Given the description of an element on the screen output the (x, y) to click on. 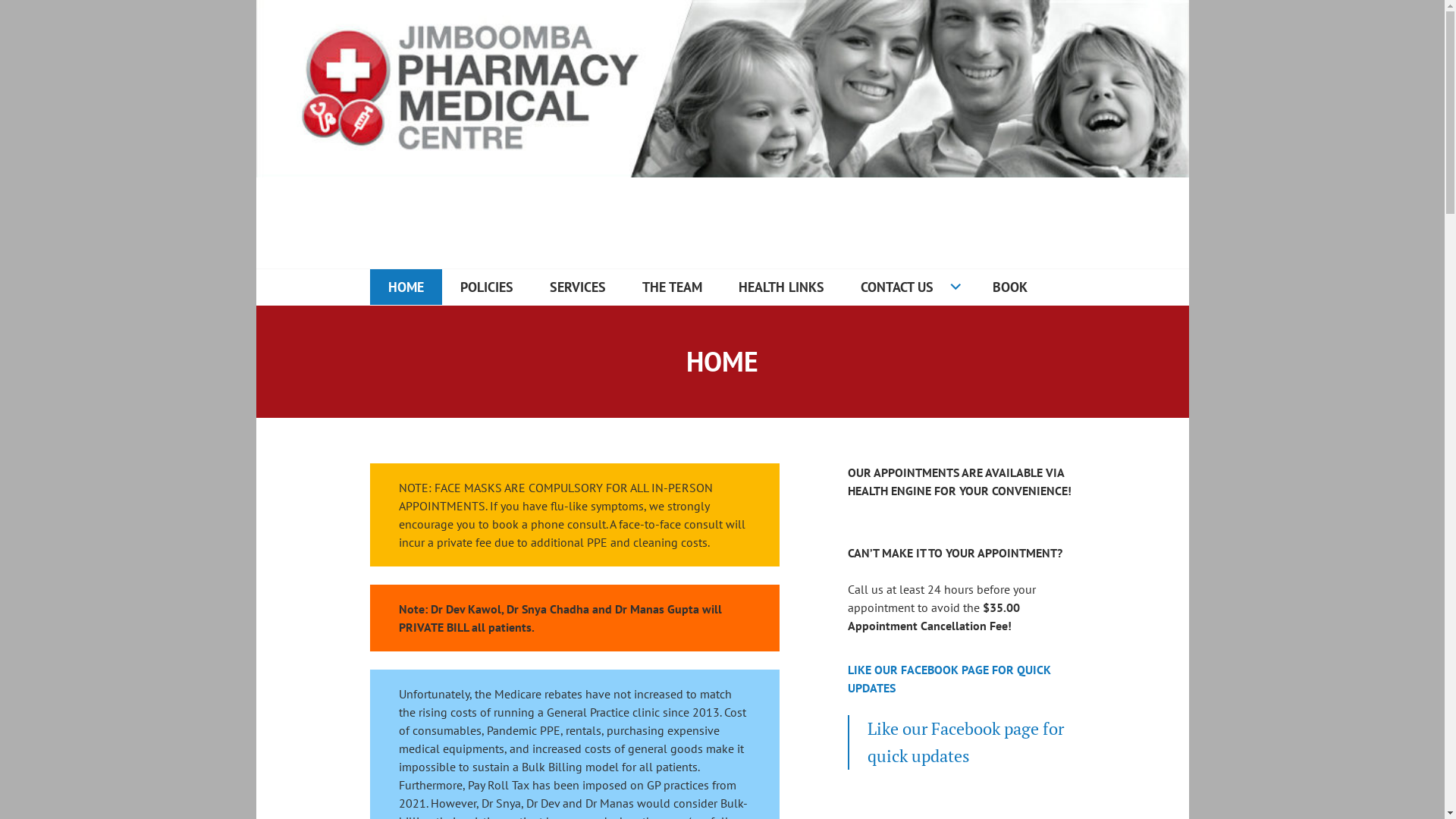
BOOK Element type: text (1008, 287)
Like our Facebook page for quick updates Element type: text (965, 741)
THE TEAM Element type: text (671, 287)
POLICIES Element type: text (485, 287)
JIMBOOMBA PHARMACY MEDICAL CENTRE Element type: text (618, 271)
HOME Element type: text (406, 287)
LIKE OUR FACEBOOK PAGE FOR QUICK UPDATES Element type: text (949, 678)
HEALTH LINKS Element type: text (781, 287)
SERVICES Element type: text (576, 287)
CONTACT US Element type: text (907, 287)
